Given the description of an element on the screen output the (x, y) to click on. 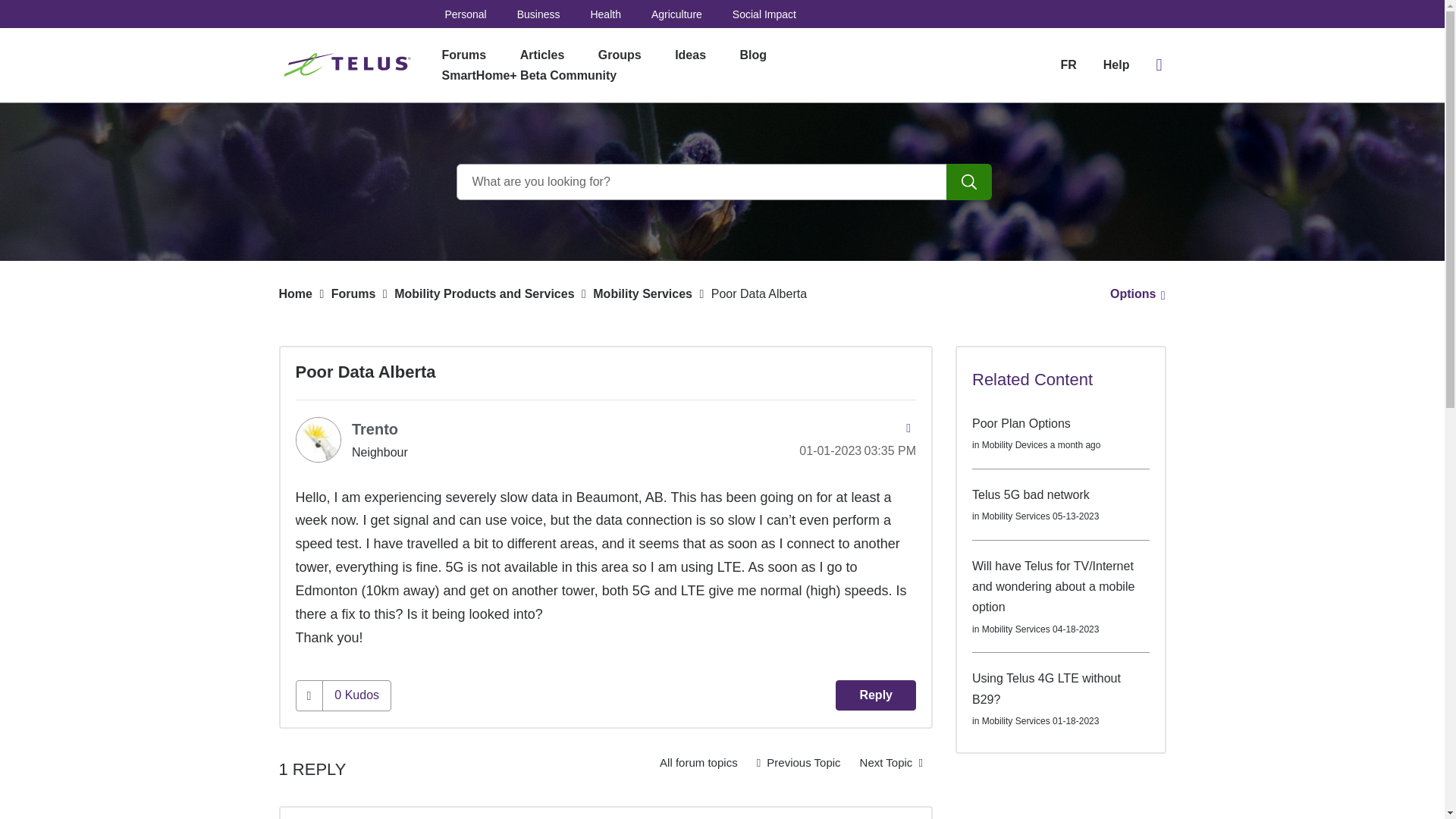
Health (604, 14)
Business (538, 14)
Search (968, 181)
Show option menu (1133, 294)
Options (1133, 294)
FR (1067, 64)
Mobility Services (698, 762)
Articles (542, 55)
Ideas (689, 55)
Personal (465, 14)
Doesn't Telus blacklist stolen phones? (798, 762)
Forums (463, 55)
Trento (317, 439)
Mobility Services (642, 293)
Family Account (891, 762)
